Given the description of an element on the screen output the (x, y) to click on. 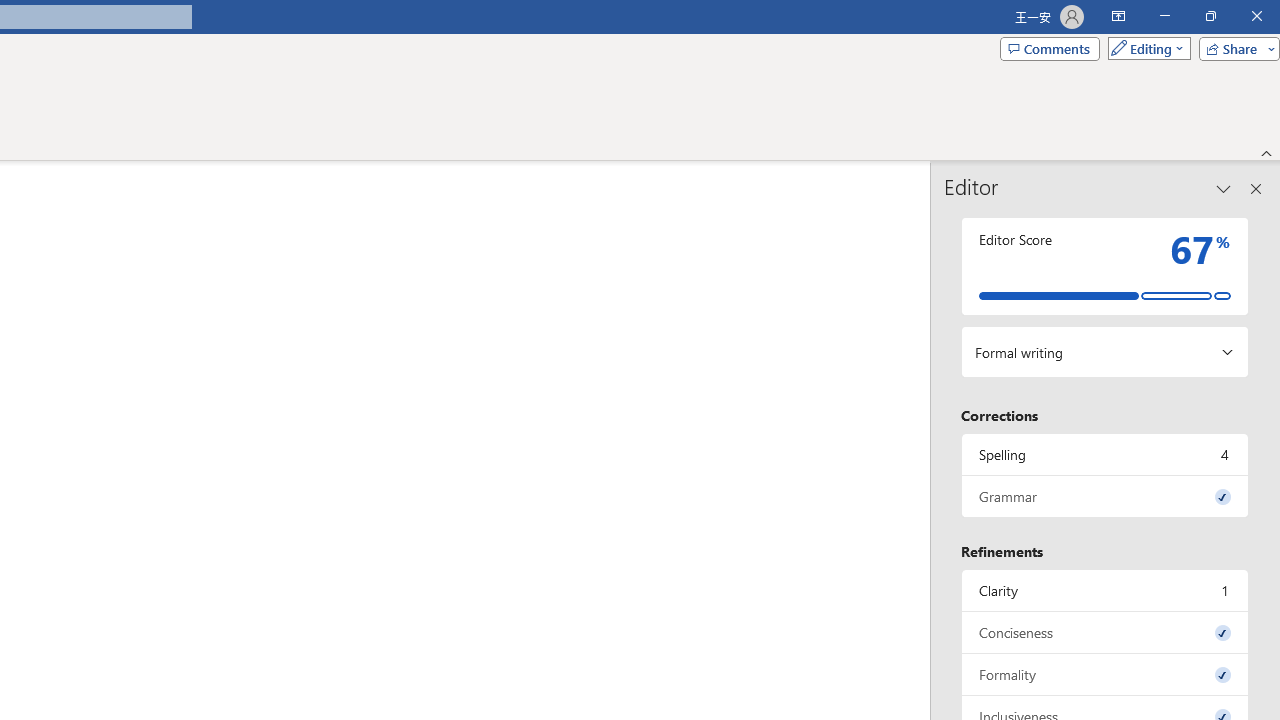
Grammar, 0 issues. Press space or enter to review items. (1105, 495)
Formality, 0 issues. Press space or enter to review items. (1105, 673)
